Given the description of an element on the screen output the (x, y) to click on. 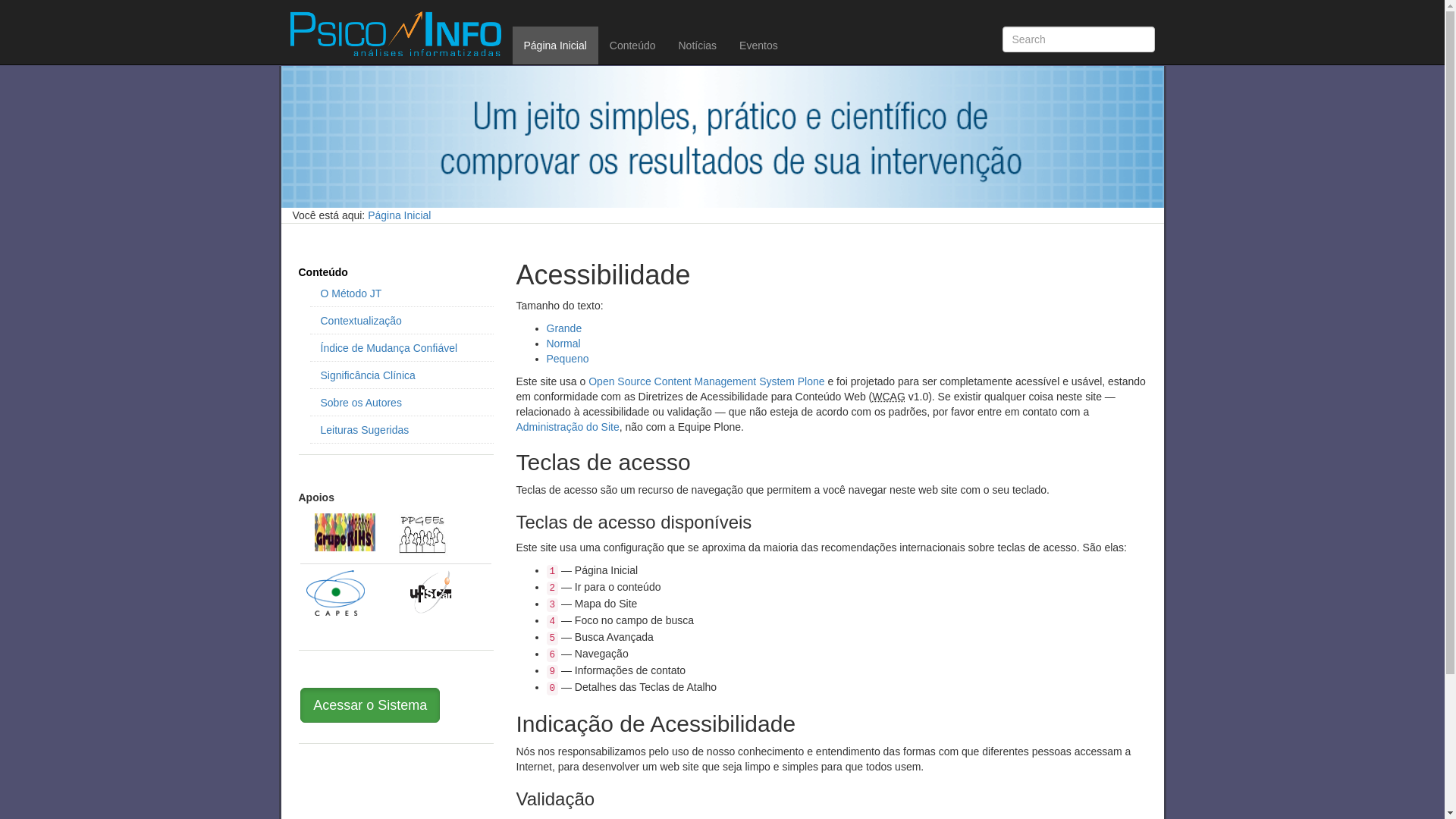
Logo_Capes Element type: hover (335, 592)
Eventos Element type: text (758, 45)
Logo_Rihs_Pequeno Element type: hover (344, 532)
Pequeno Element type: text (567, 358)
Normal Element type: text (563, 343)
Logo_Ppgees Element type: hover (421, 535)
Grande Element type: text (563, 328)
Grupo RIHS Element type: hover (344, 531)
Acessar o Sistema Element type: text (369, 704)
Logo_Ufscar Element type: hover (430, 591)
Open Source Content Management System Plone Element type: text (706, 381)
PPGEES Element type: hover (421, 534)
Sobre os Autores Element type: text (401, 402)
Leituras Sugeridas Element type: text (401, 429)
Capes Element type: hover (335, 592)
